Given the description of an element on the screen output the (x, y) to click on. 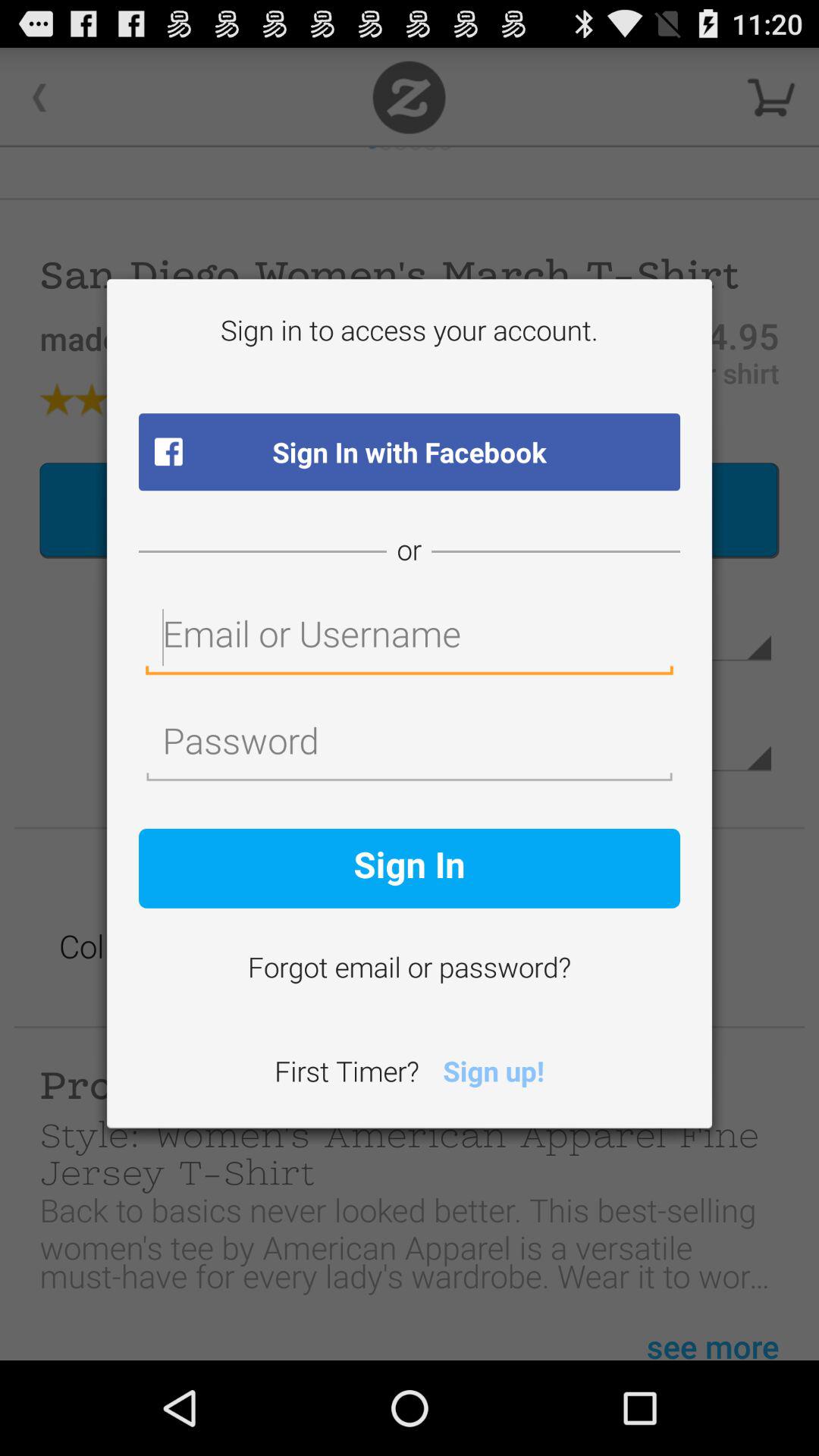
the field is used to type the password in (409, 744)
